Given the description of an element on the screen output the (x, y) to click on. 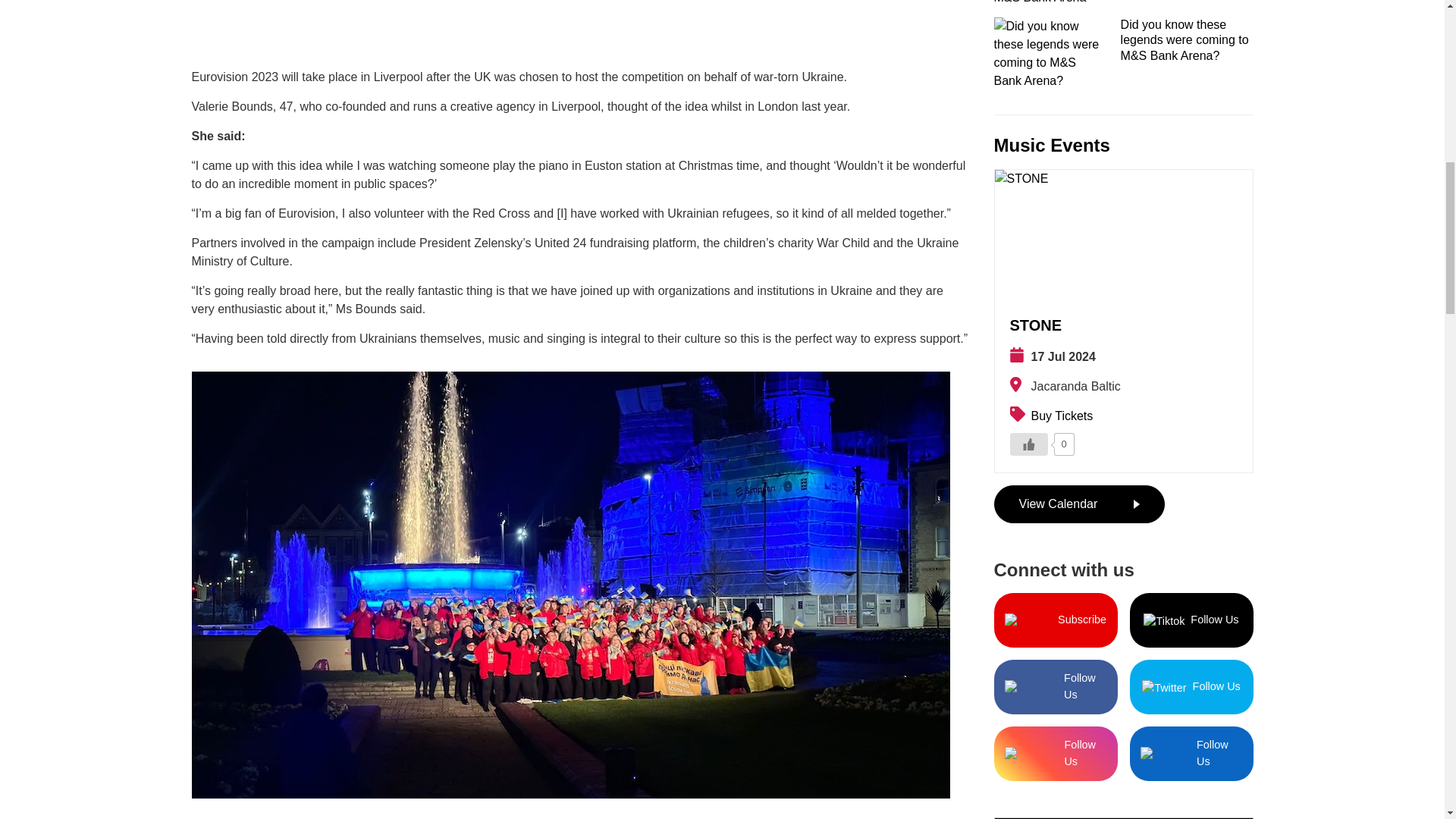
Advertisement (579, 26)
